Given the description of an element on the screen output the (x, y) to click on. 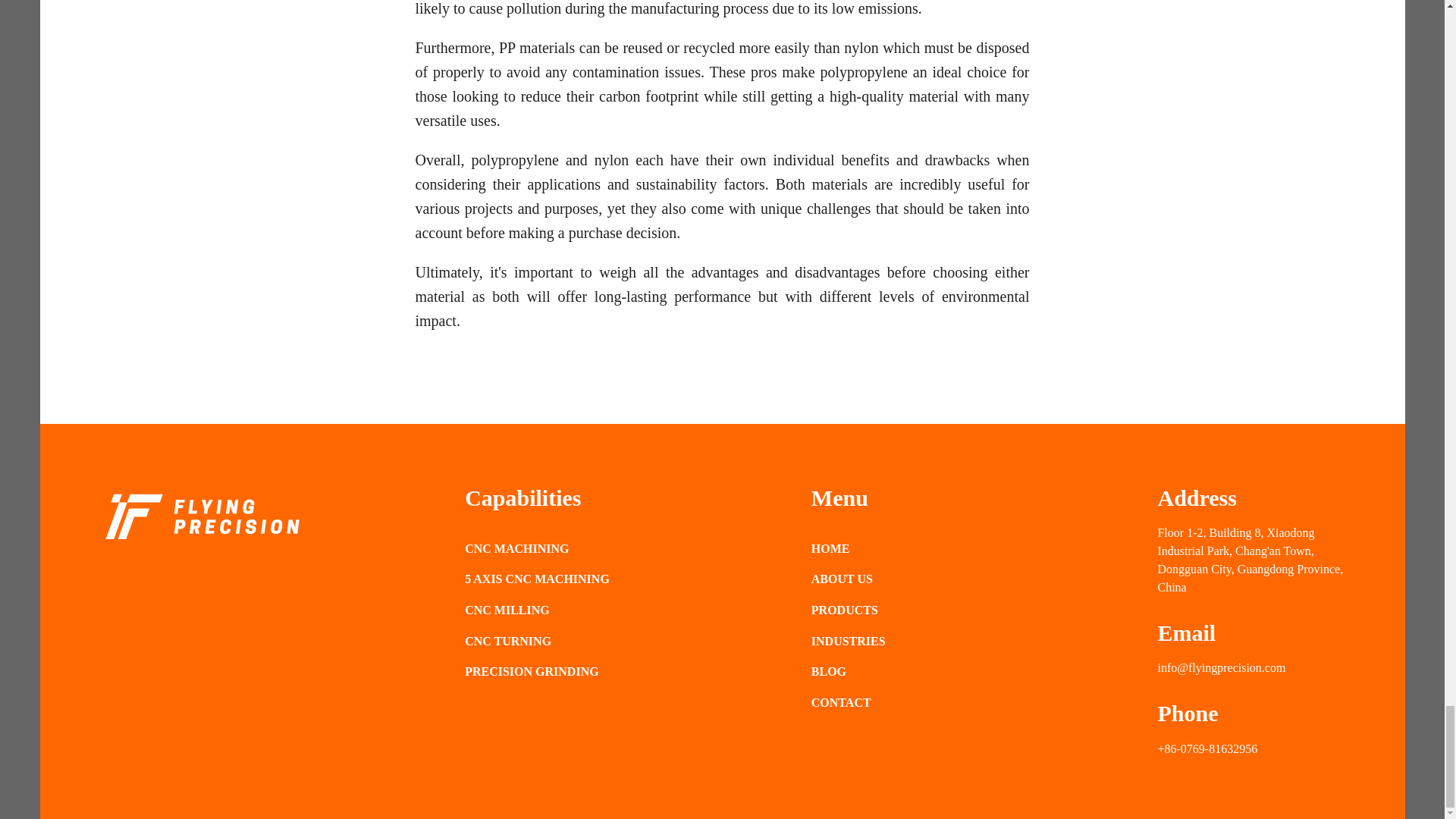
INDUSTRIES (847, 641)
PRODUCTS (847, 609)
5 AXIS CNC MACHINING (537, 578)
CNC TURNING (537, 641)
CNC MACHINING (537, 548)
PRECISION GRINDING (537, 671)
ABOUT US (847, 578)
CNC MILLING (537, 609)
HOME (847, 548)
CONTACT (847, 702)
